Given the description of an element on the screen output the (x, y) to click on. 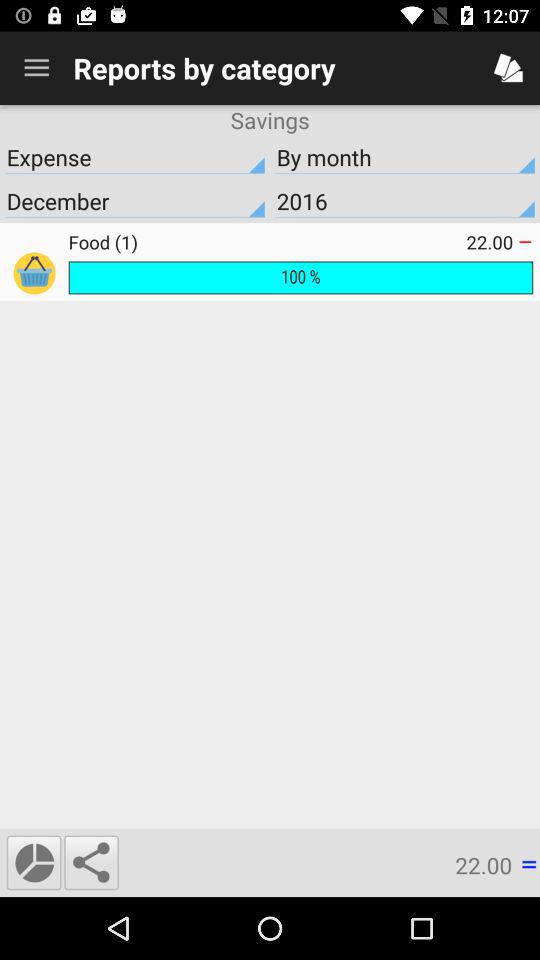
turn off icon next to the by month item (135, 201)
